Given the description of an element on the screen output the (x, y) to click on. 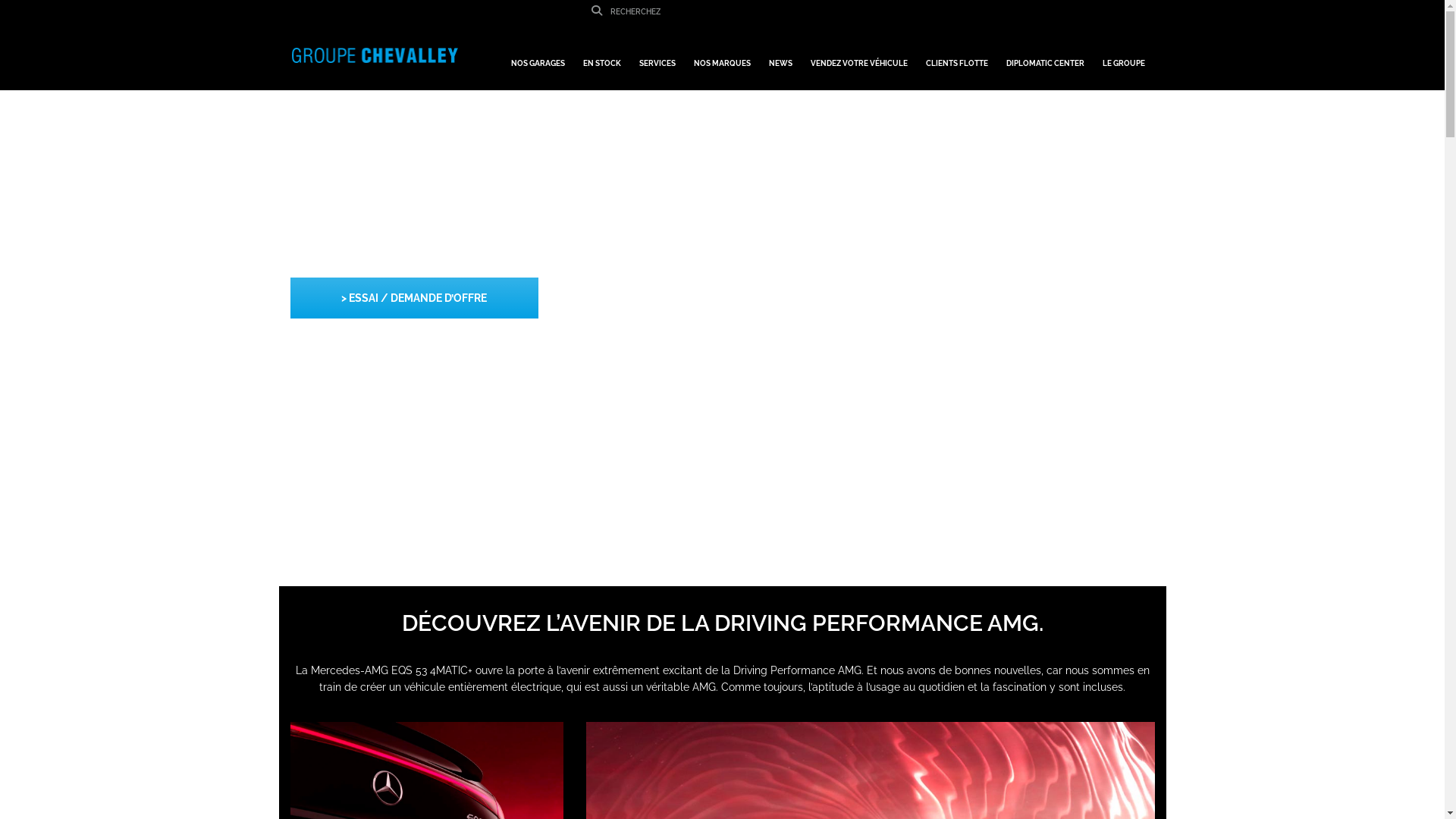
NOS MARQUES Element type: text (721, 56)
CLIENTS FLOTTE Element type: text (956, 56)
EN STOCK Element type: text (601, 56)
NEWS Element type: text (780, 56)
NOS GARAGES Element type: text (538, 56)
LE GROUPE Element type: text (1123, 56)
SERVICES Element type: text (656, 56)
DIPLOMATIC CENTER Element type: text (1044, 56)
